Given the description of an element on the screen output the (x, y) to click on. 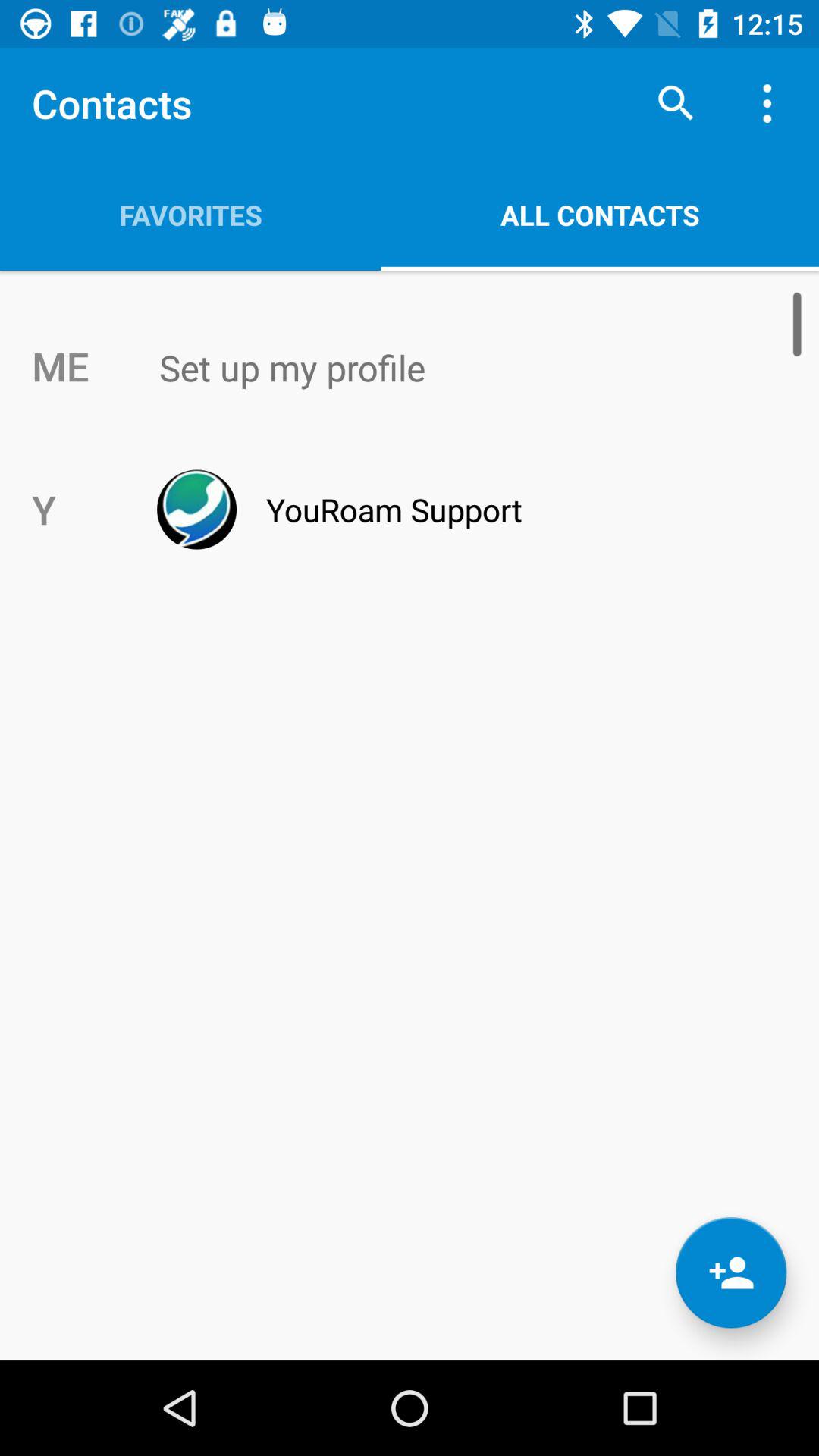
open icon to the right of favorites app (675, 103)
